Given the description of an element on the screen output the (x, y) to click on. 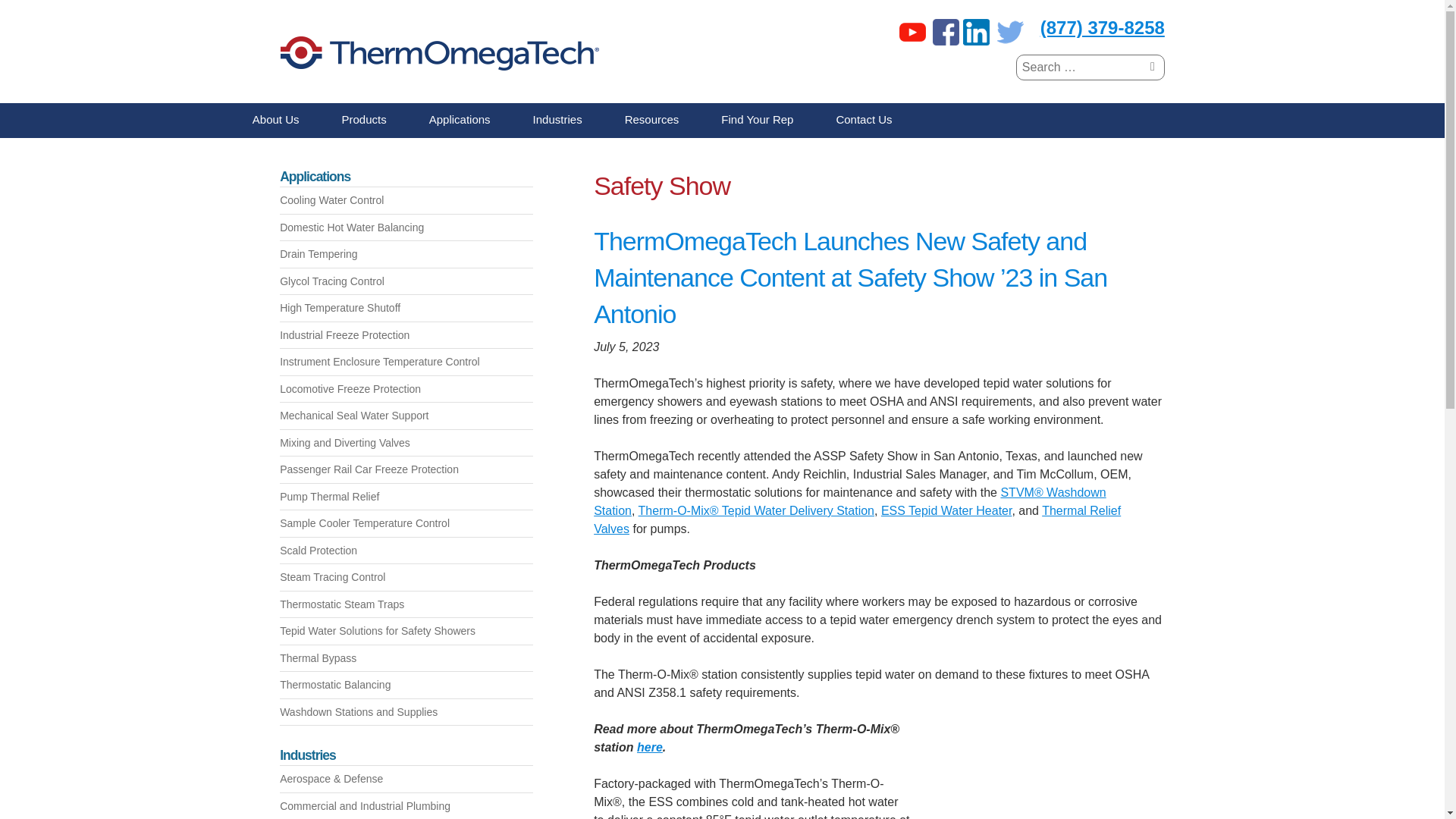
Skip to content (21, 110)
About Us (275, 120)
Products (363, 120)
Applications (459, 120)
Industries (558, 120)
